Given the description of an element on the screen output the (x, y) to click on. 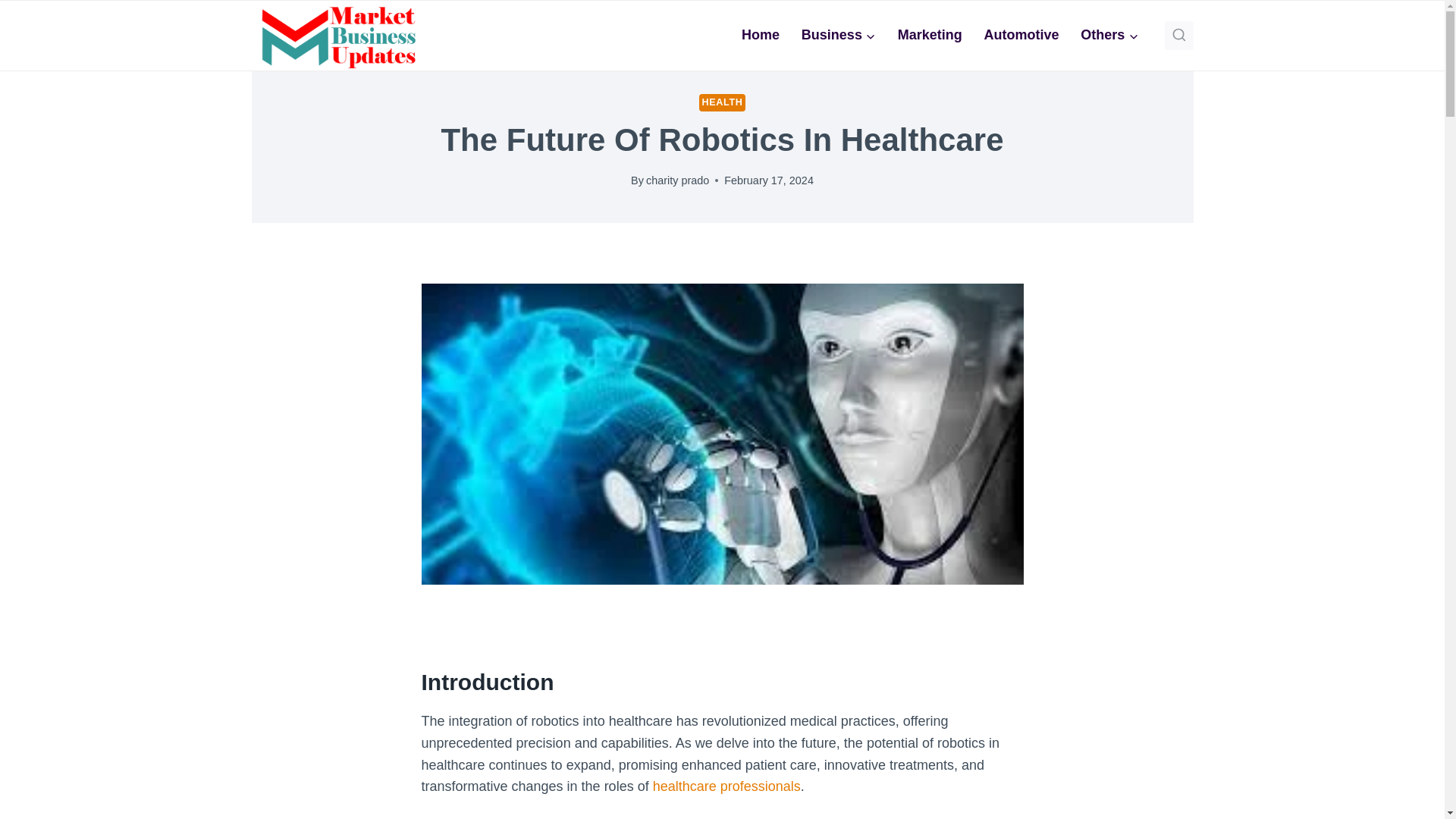
healthcare professionals (726, 785)
Marketing (929, 34)
Business (838, 34)
Others (1110, 34)
charity prado (677, 180)
HEALTH (721, 102)
Home (760, 34)
Automotive (1021, 34)
